Given the description of an element on the screen output the (x, y) to click on. 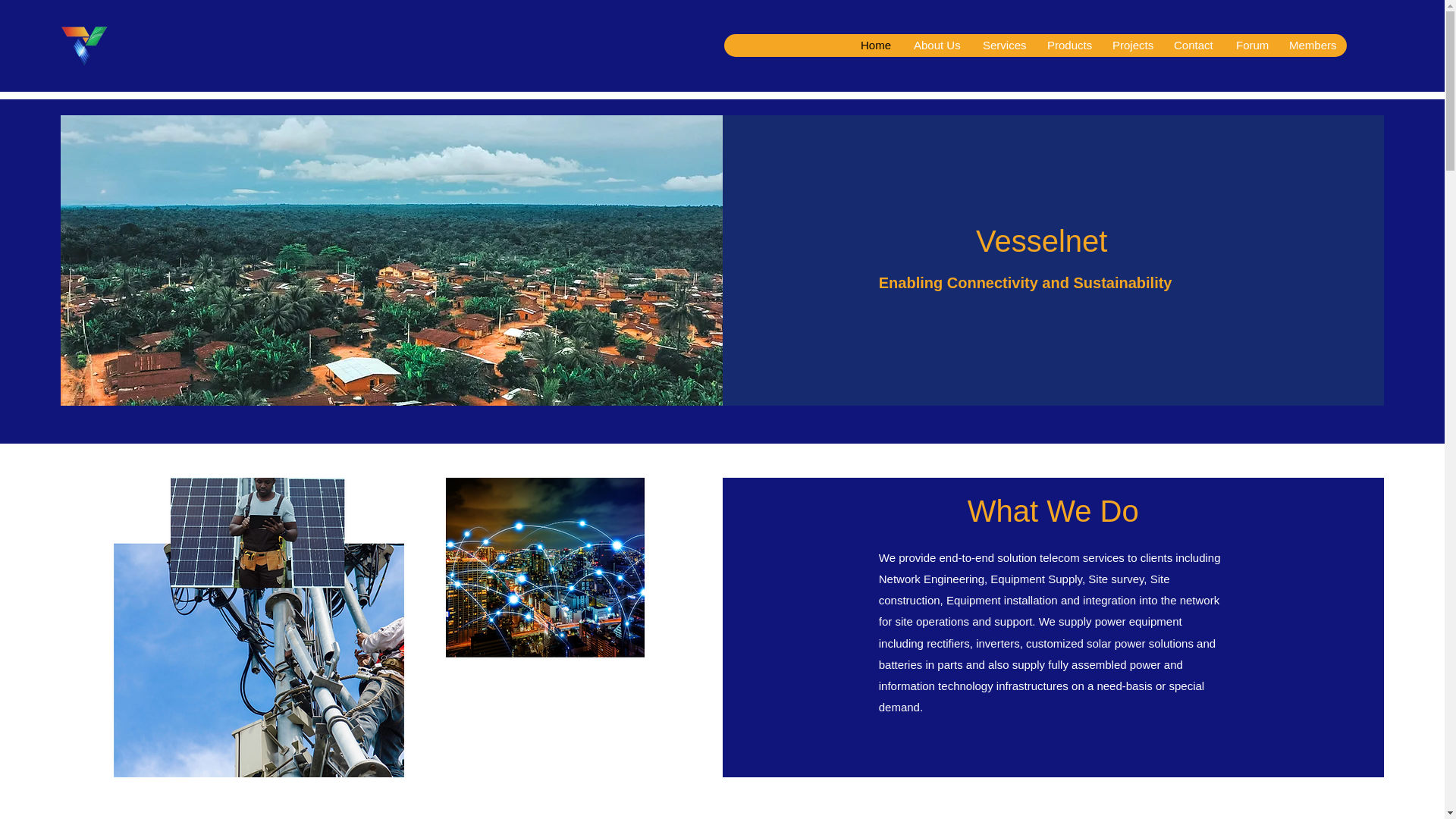
Projects (1130, 45)
Products (1067, 45)
Services (1003, 45)
Home (874, 45)
Members (1311, 45)
Forum (1250, 45)
About Us (936, 45)
Contact (1192, 45)
